Given the description of an element on the screen output the (x, y) to click on. 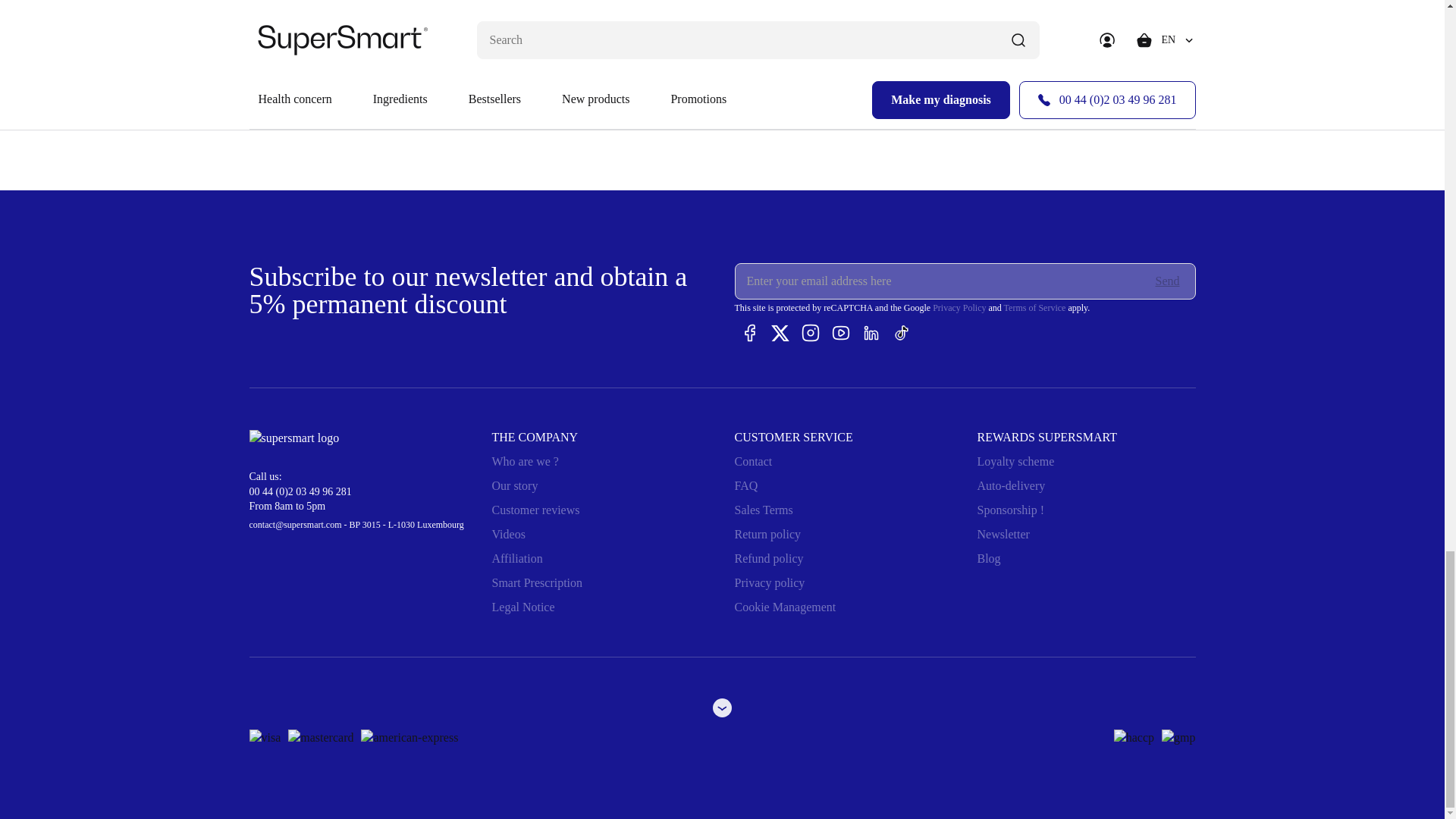
Send (1168, 280)
